Given the description of an element on the screen output the (x, y) to click on. 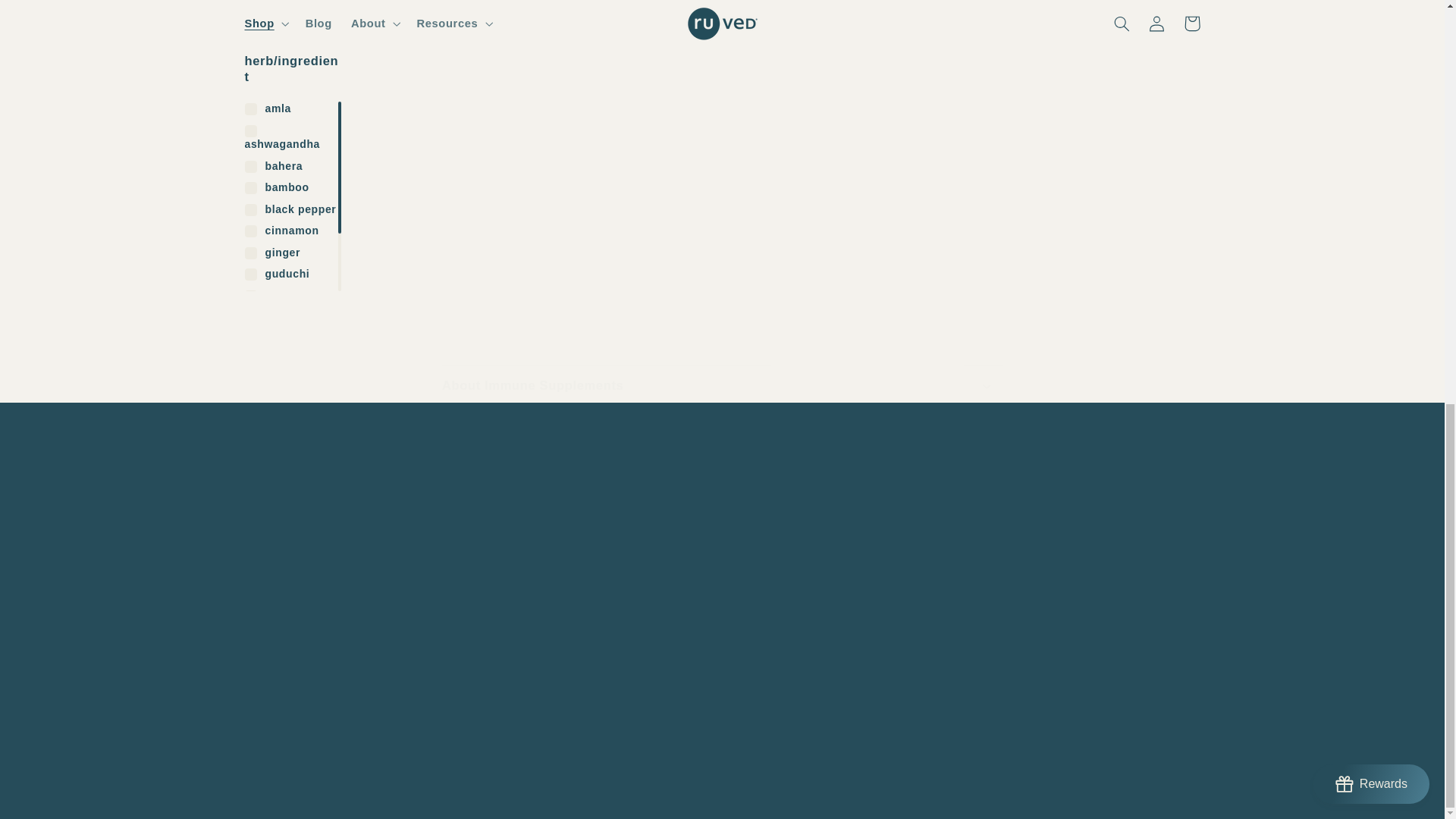
About Immune Supplements (1087, 553)
